Given the description of an element on the screen output the (x, y) to click on. 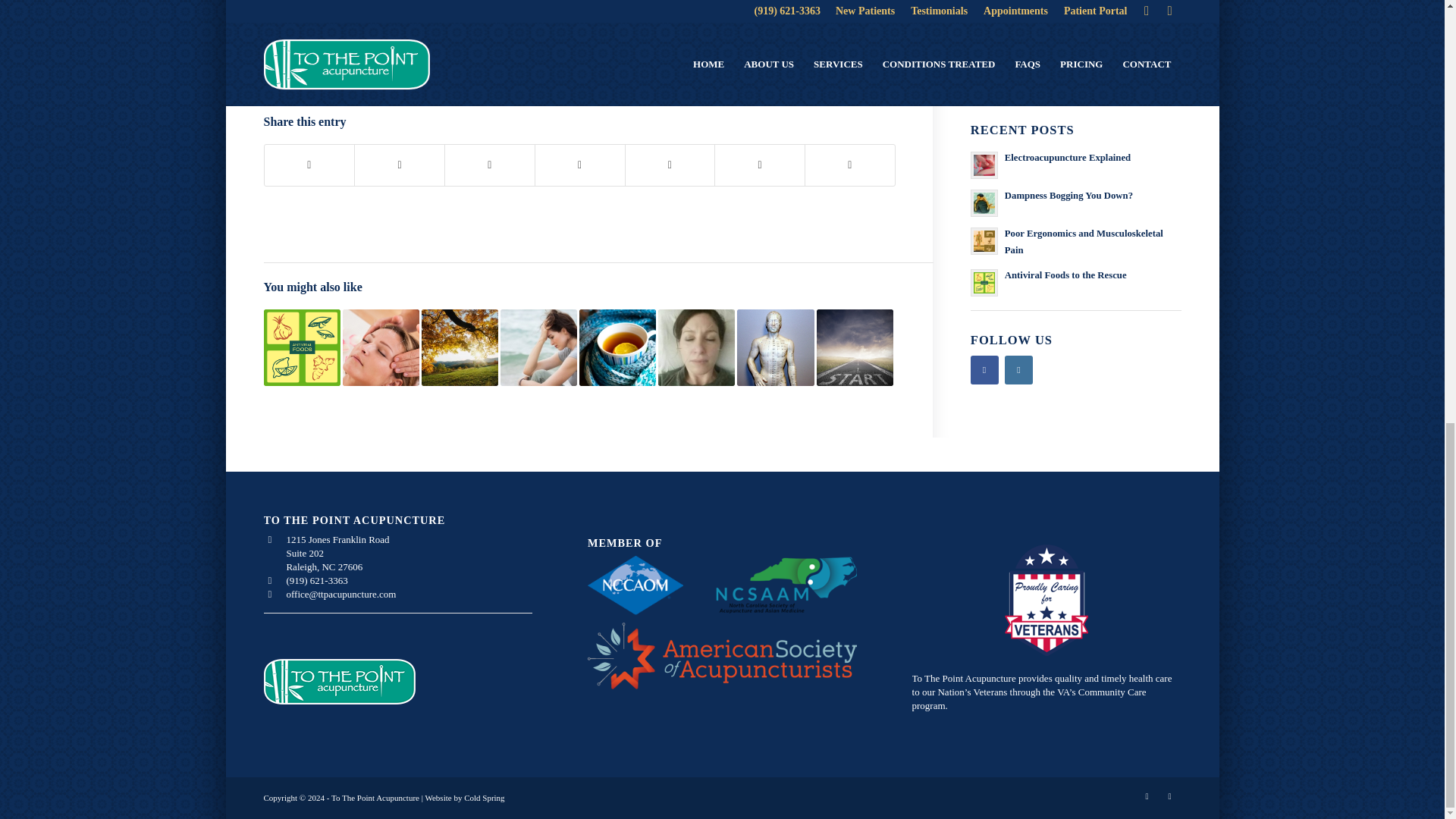
stress (800, 81)
acupuncture (314, 81)
Acupuncture for Depression (538, 347)
chinese medicine (413, 81)
high blood pressure (642, 81)
February (473, 81)
heart (506, 81)
insomnia (764, 81)
anxiety (359, 81)
6 Illnesses That Can Be Treated with Acupuncture (380, 347)
hypertension (714, 81)
To The Point Acupuncture, LLC. (498, 1)
The Key to your Wei-Qi (459, 347)
herbs (585, 81)
